Given the description of an element on the screen output the (x, y) to click on. 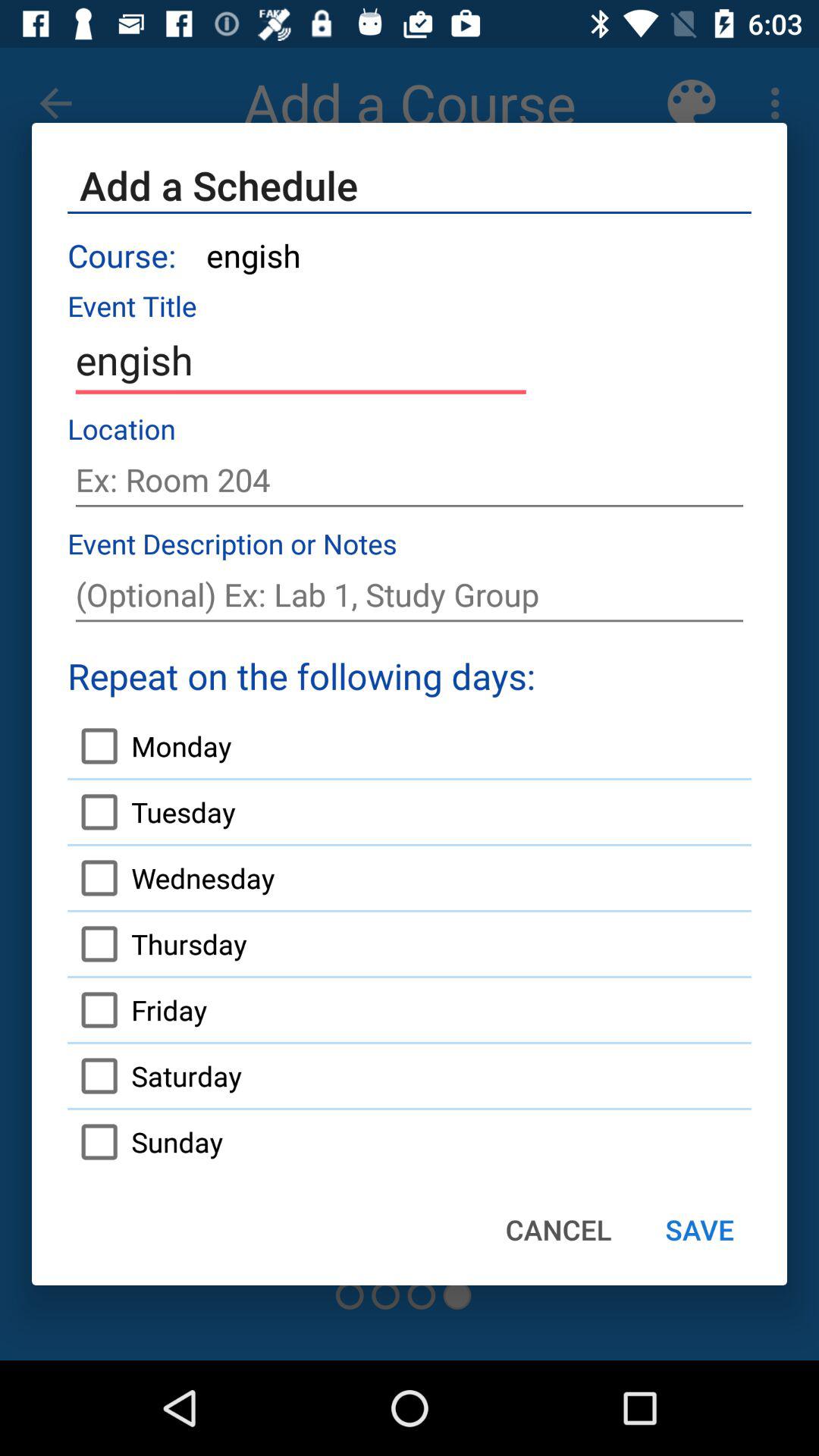
jump to friday item (137, 1009)
